Given the description of an element on the screen output the (x, y) to click on. 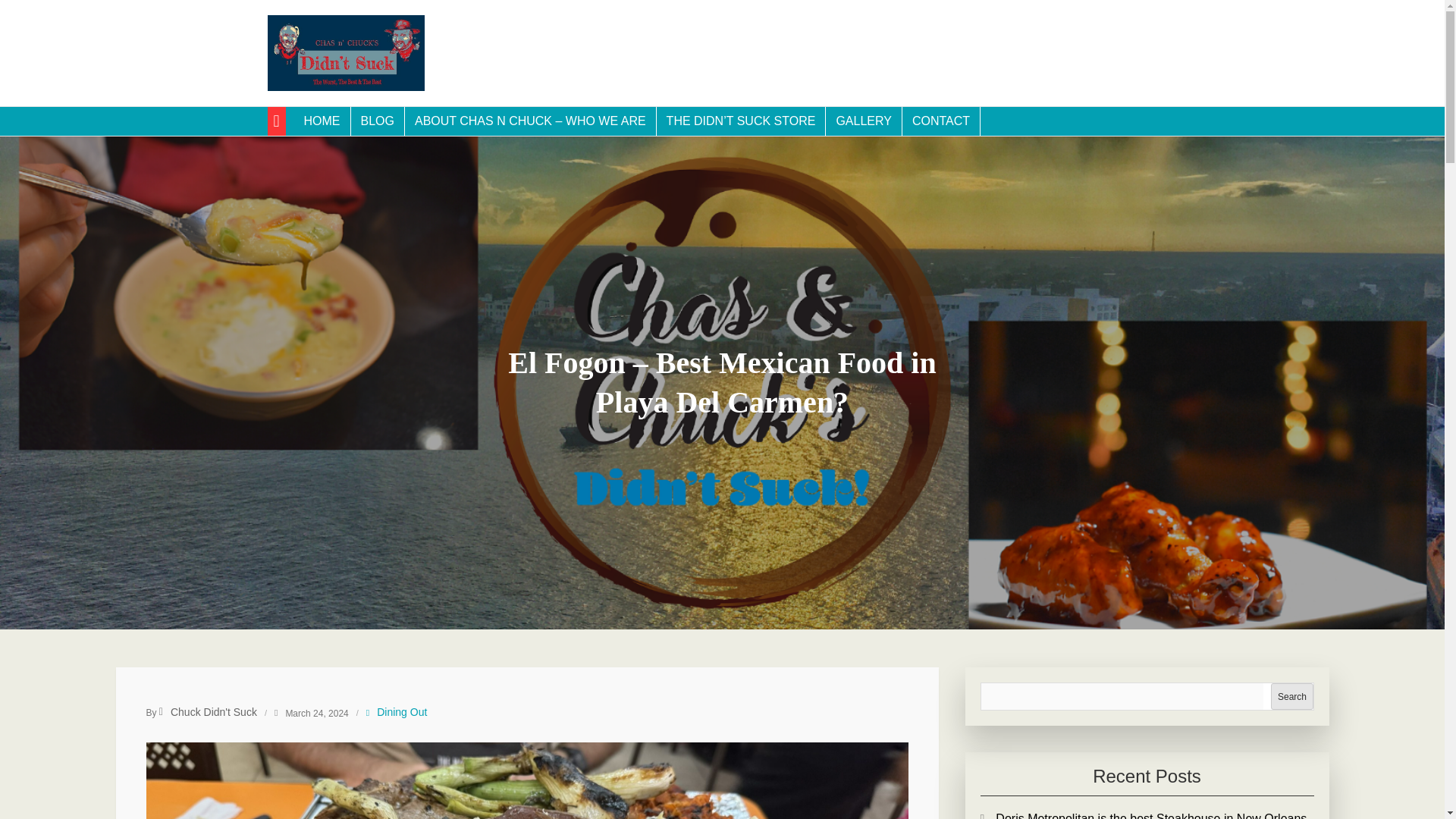
HOME (322, 121)
CONTACT (940, 121)
Dining Out (401, 711)
BLOG (377, 121)
GALLERY (863, 121)
Search (1292, 696)
Chuck Didn't Suck (207, 711)
didntsuck.com (365, 111)
